Given the description of an element on the screen output the (x, y) to click on. 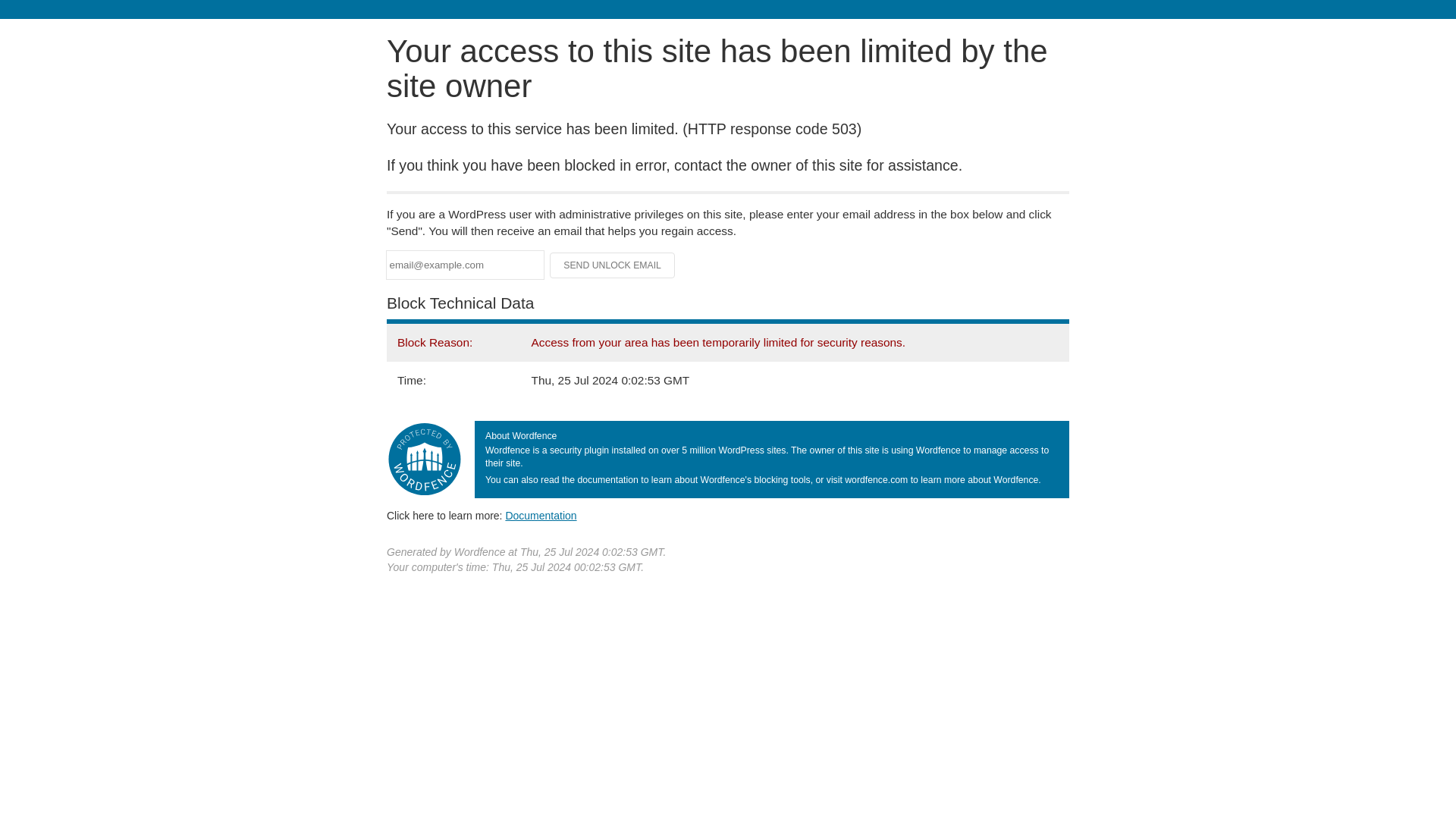
Documentation (540, 515)
Send Unlock Email (612, 265)
Send Unlock Email (612, 265)
